Given the description of an element on the screen output the (x, y) to click on. 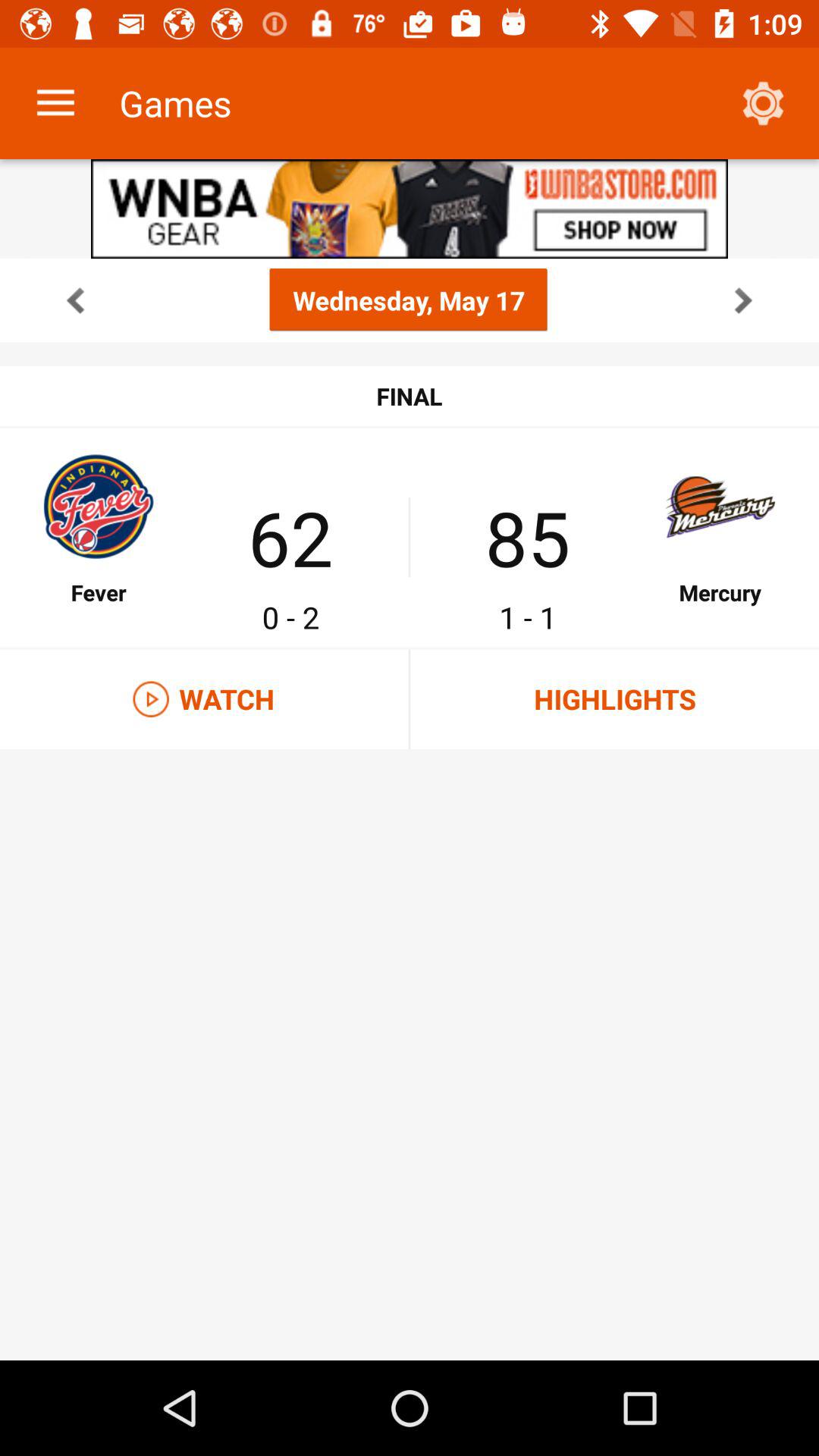
know about the advertisement (409, 208)
